Given the description of an element on the screen output the (x, y) to click on. 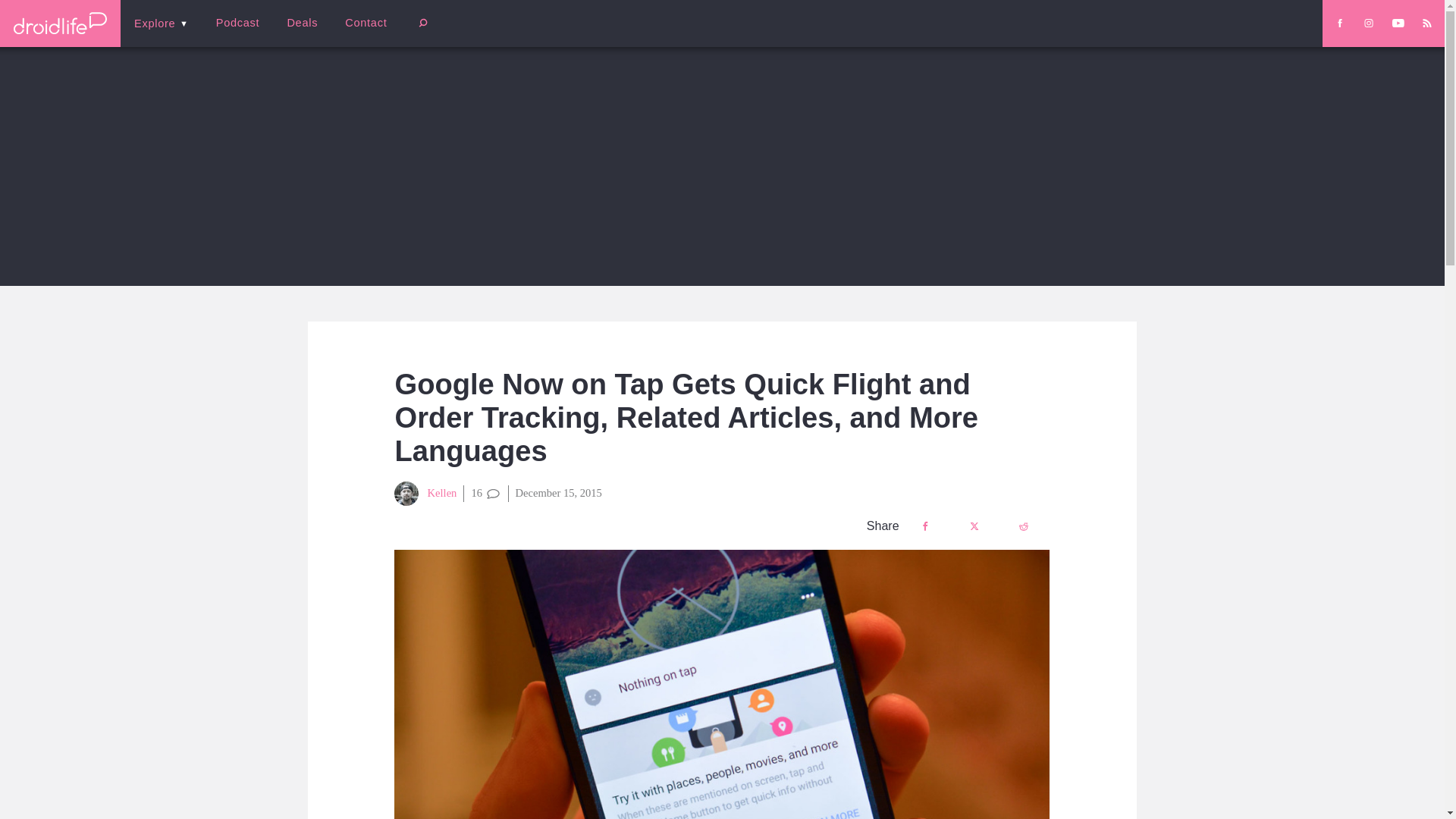
Droid Life on Facebook (1339, 23)
Kellen (425, 493)
Deals (302, 23)
Explore (161, 23)
Droid Life on YouTube (1398, 23)
Droid Life on Instagram (1368, 23)
Beginners' Guide (360, 33)
Podcast (237, 23)
Contact (365, 23)
Droid Life RSS (1426, 23)
